Given the description of an element on the screen output the (x, y) to click on. 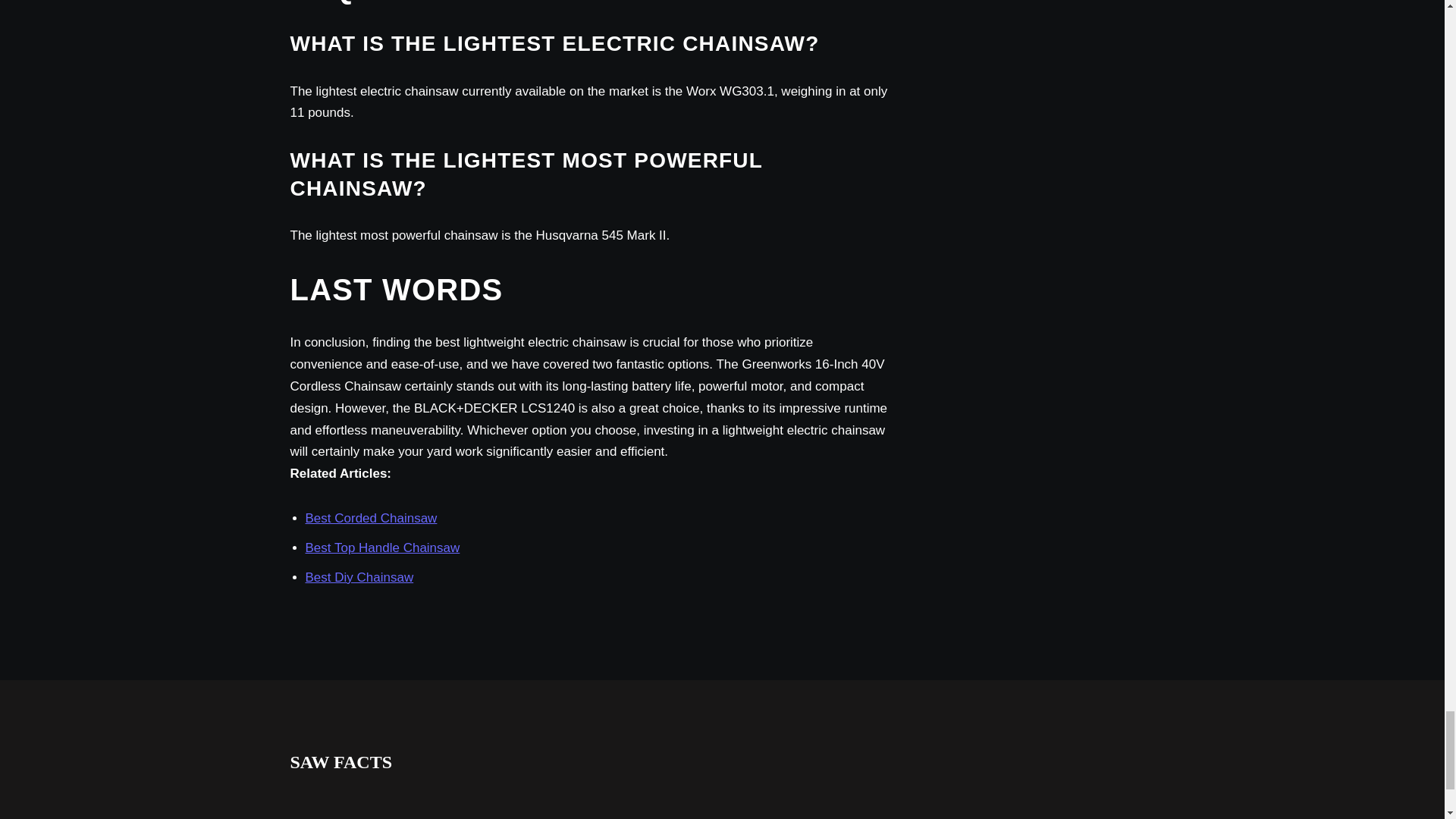
Best Corded Chainsaw (370, 518)
Best Top Handle Chainsaw (382, 547)
Best Diy Chainsaw (358, 577)
